Given the description of an element on the screen output the (x, y) to click on. 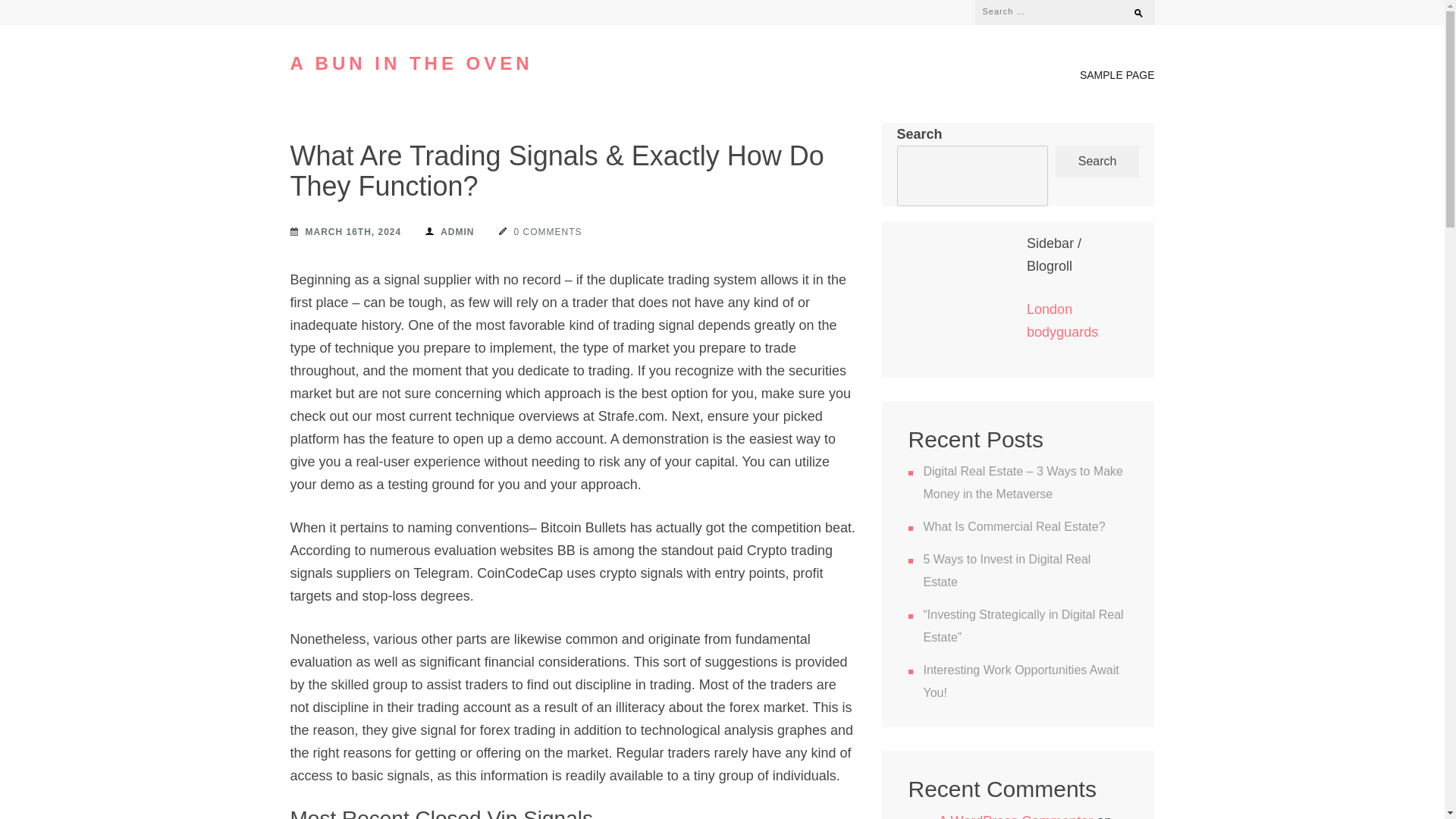
Search (1097, 161)
ADMIN (449, 231)
Search (1131, 9)
A WordPress Commenter (1016, 816)
A BUN IN THE OVEN (410, 63)
Search (1131, 9)
Interesting Work Opportunities Await You! (1021, 681)
London bodyguards (1061, 320)
0 COMMENTS (540, 231)
Search (1131, 9)
SAMPLE PAGE (1117, 78)
MARCH 16TH, 2024 (345, 231)
5 Ways to Invest in Digital Real Estate (1006, 570)
What Is Commercial Real Estate? (1014, 526)
